Given the description of an element on the screen output the (x, y) to click on. 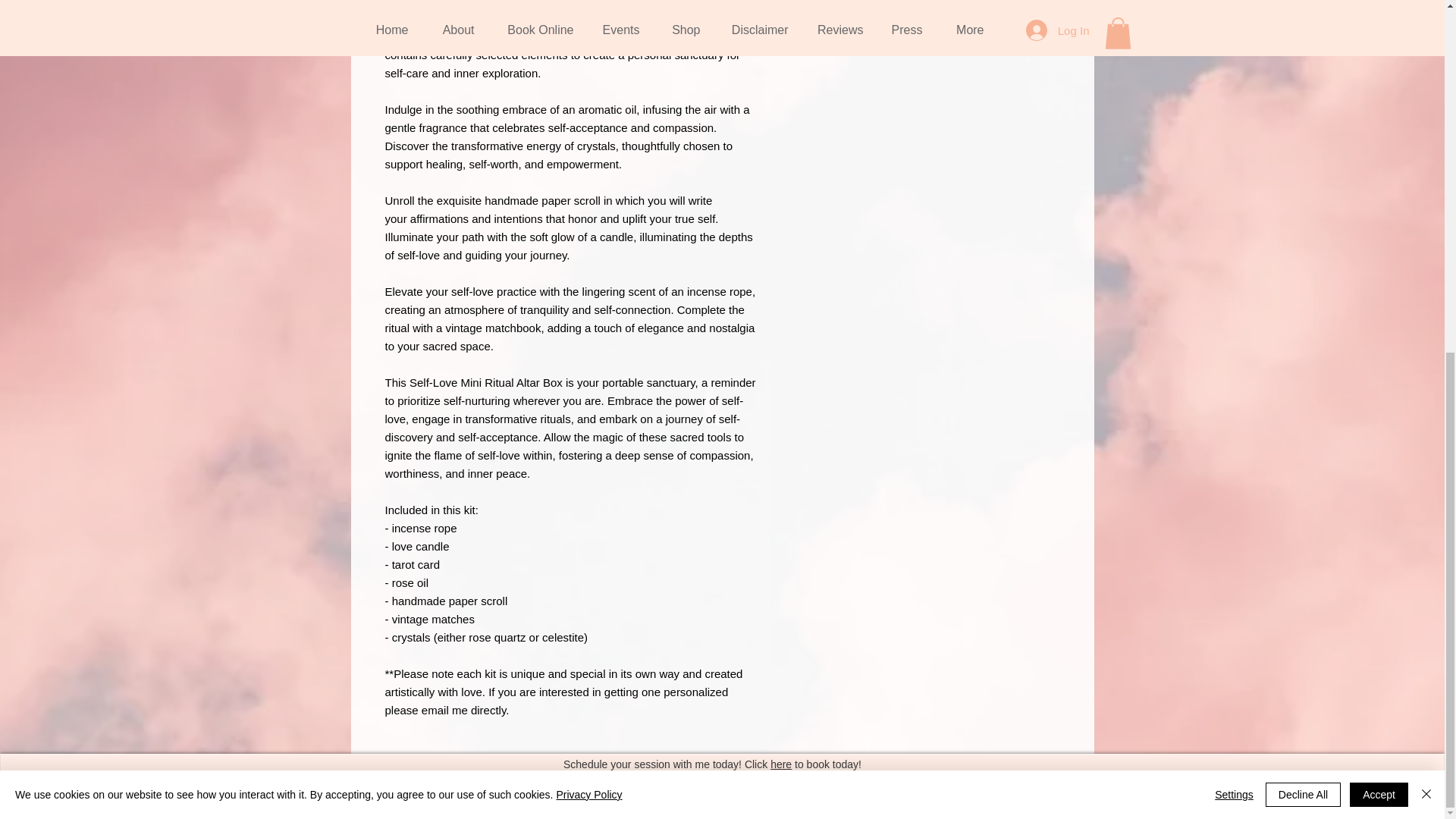
Decline All (1302, 180)
Accept (1378, 180)
510-847-7847 (712, 161)
Do Not Sell My Personal Information (710, 183)
Privacy Policy (588, 180)
here (781, 150)
